Given the description of an element on the screen output the (x, y) to click on. 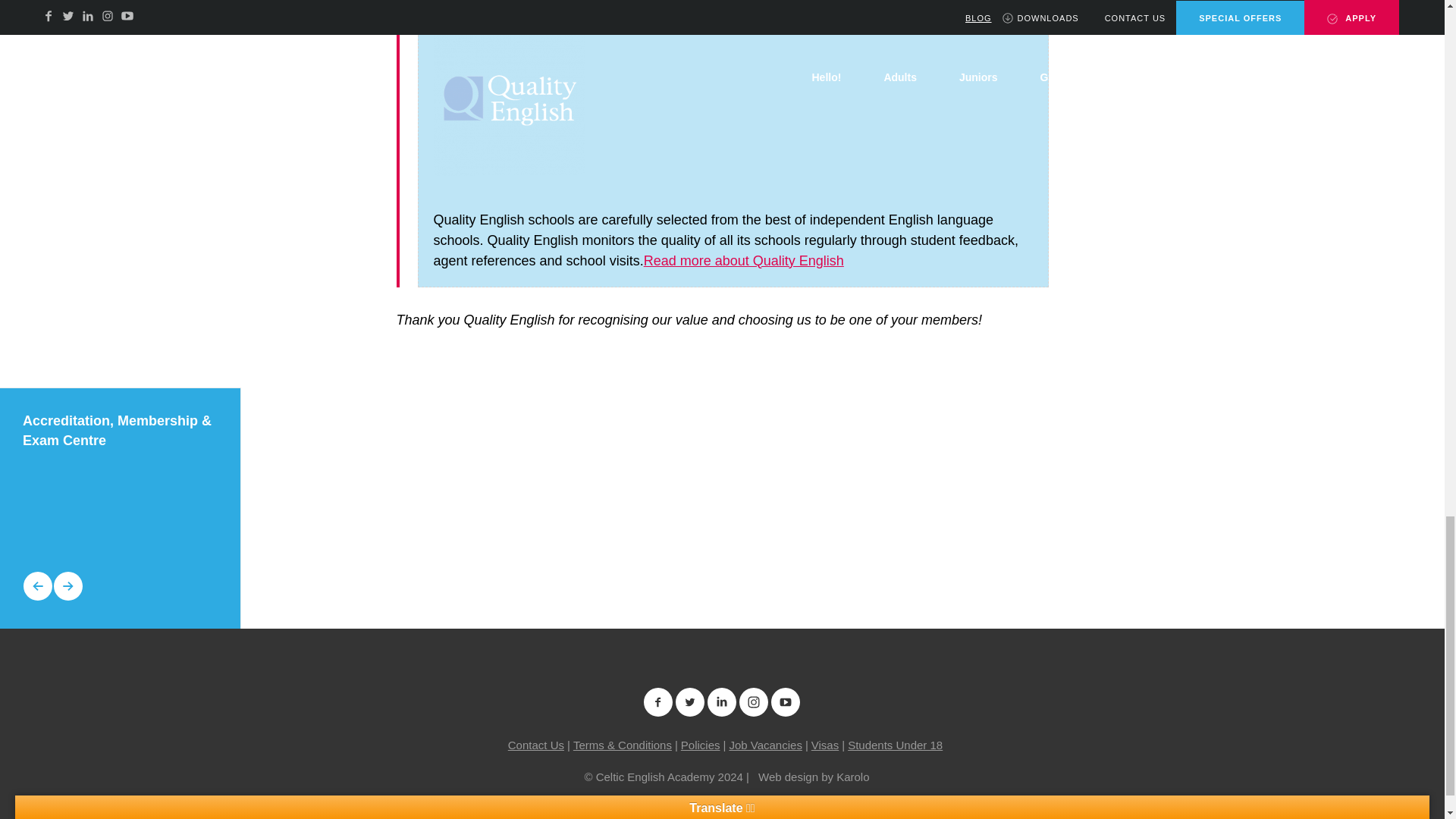
Find us on Instagram (753, 702)
Find us on YouTube (785, 702)
Find us on Facebook (657, 702)
Find us on Twitter (689, 702)
Find us on LinkedIn (721, 702)
